Given the description of an element on the screen output the (x, y) to click on. 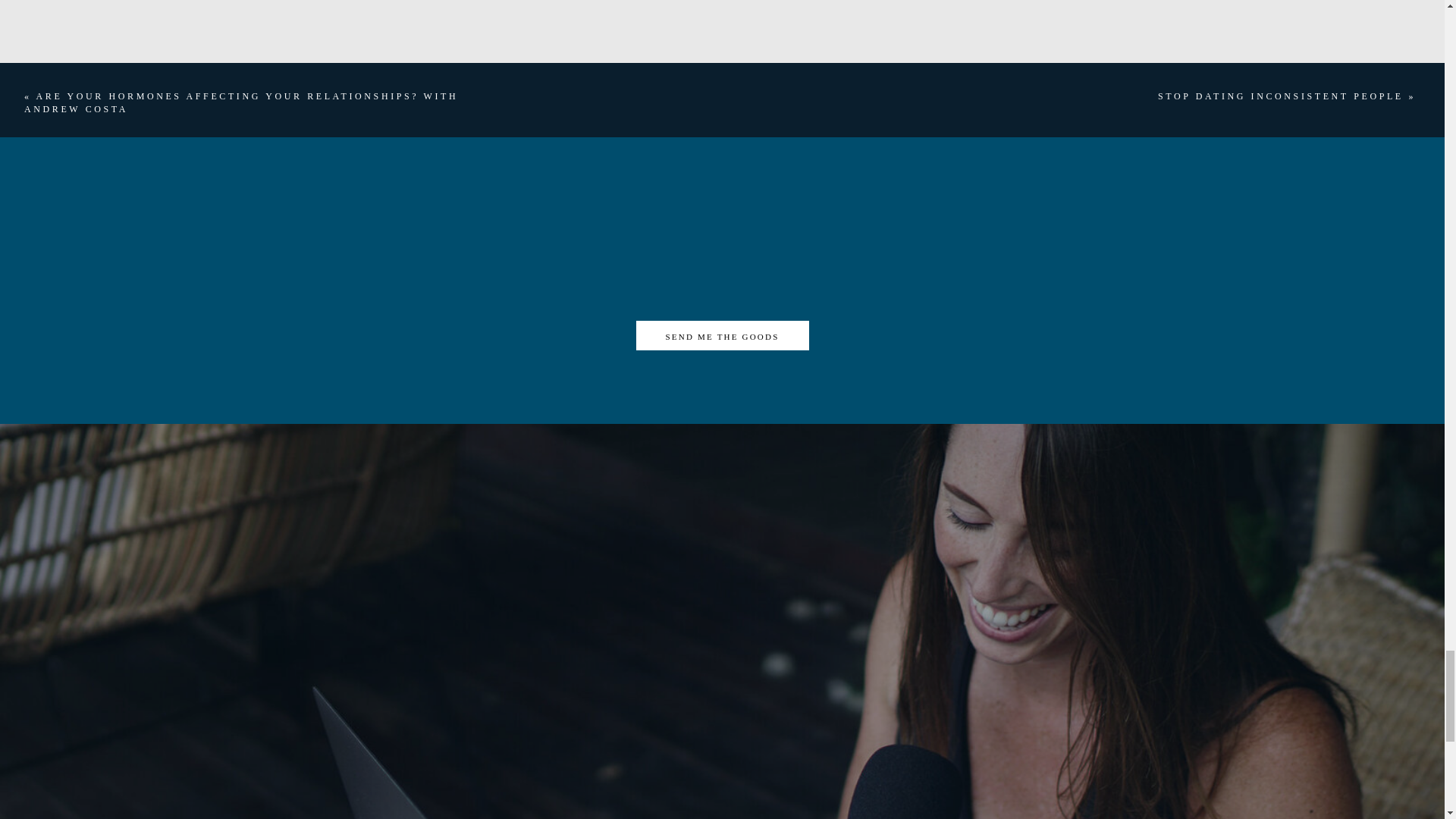
STOP DATING INCONSISTENT PEOPLE (1280, 95)
SEND ME THE GOODS (722, 335)
